Given the description of an element on the screen output the (x, y) to click on. 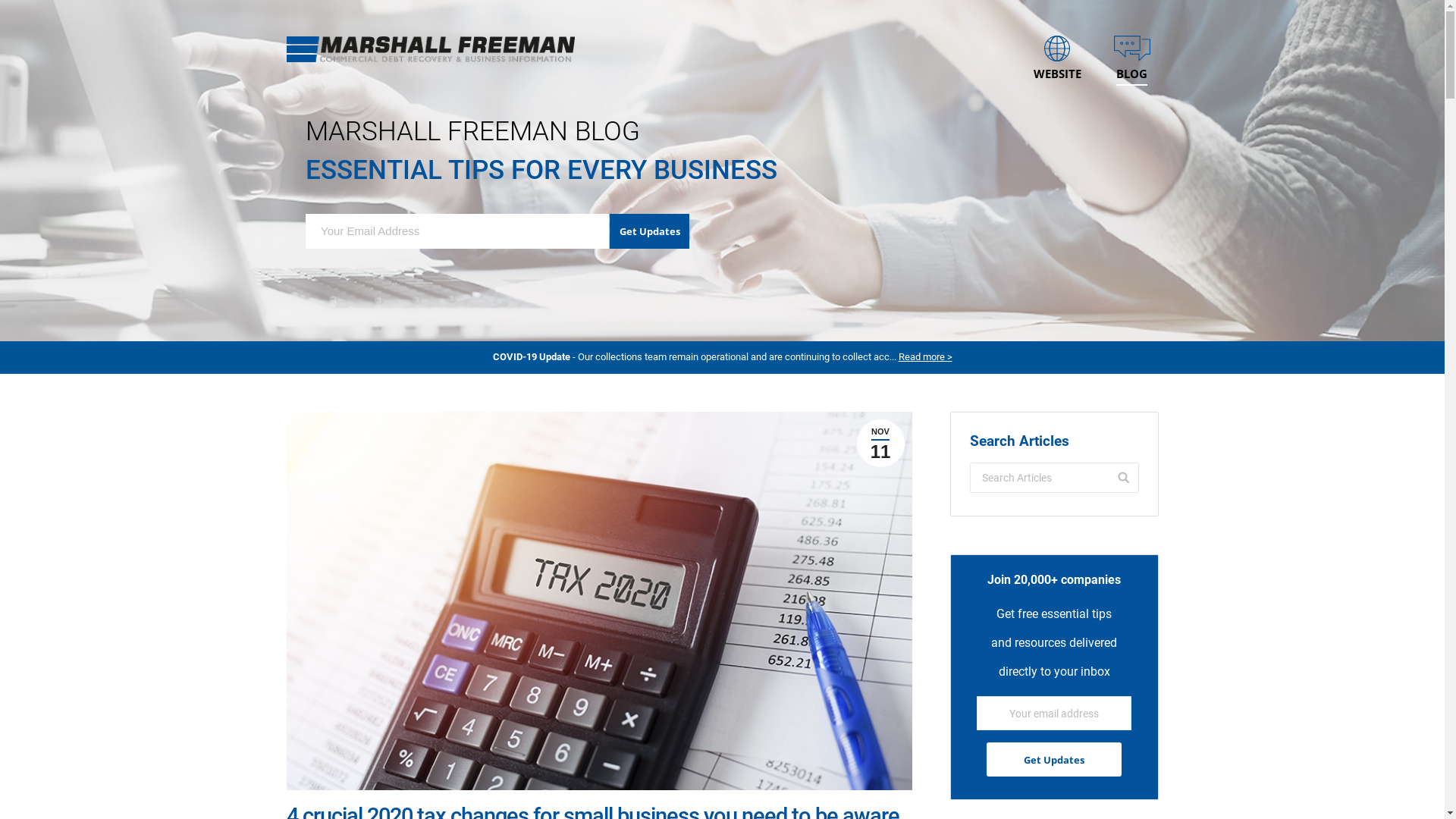
BLOG Element type: text (1131, 48)
Read more > Element type: text (924, 356)
WEBSITE Element type: text (1056, 48)
Go! Element type: text (1118, 477)
NOV
11 Element type: text (880, 443)
Get Updates Element type: text (649, 230)
Get Updates Element type: text (1053, 759)
